Given the description of an element on the screen output the (x, y) to click on. 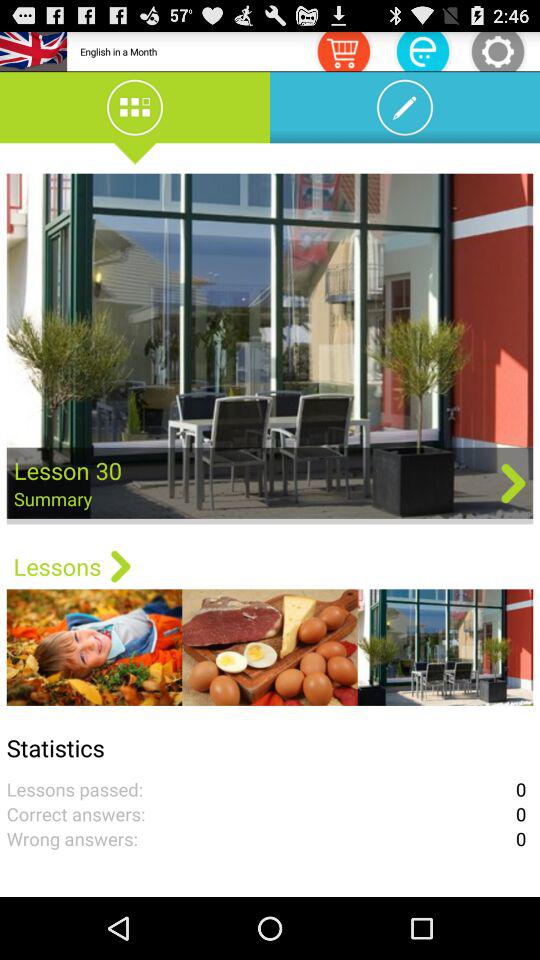
go to shopping cart (343, 50)
